Given the description of an element on the screen output the (x, y) to click on. 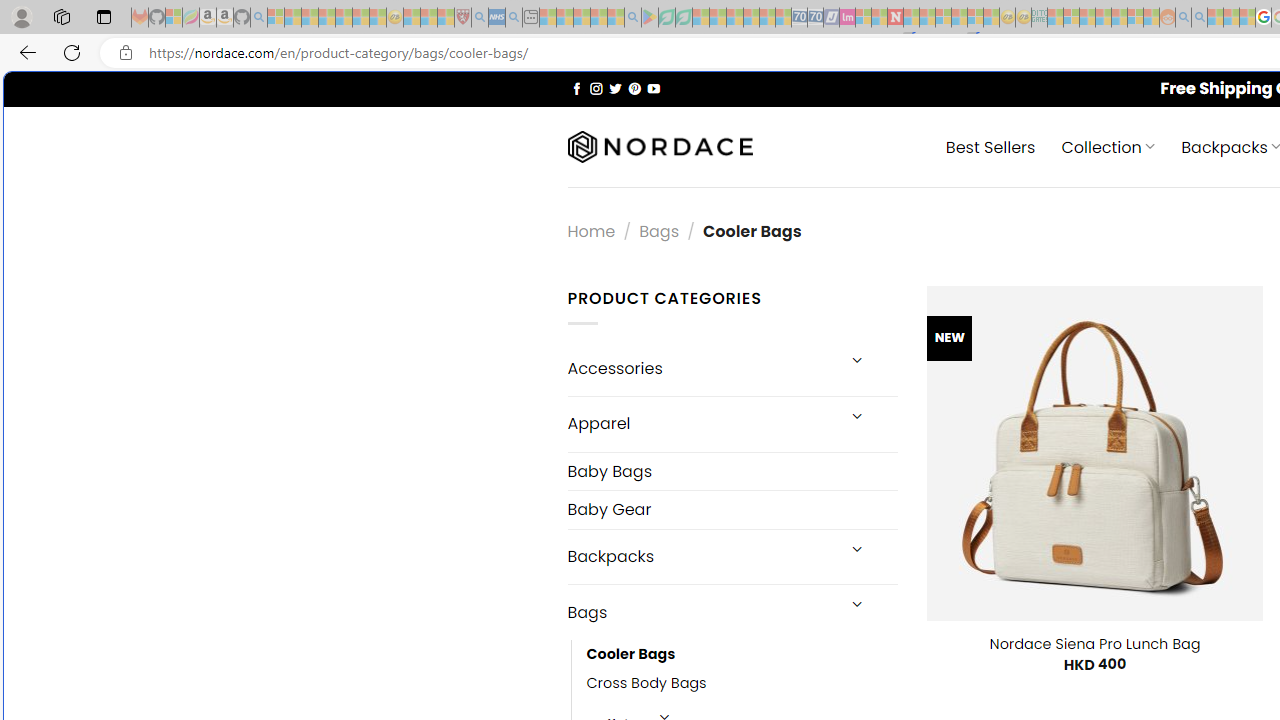
Cross Body Bags (646, 683)
Accessories (700, 368)
Cooler Bags (742, 655)
Follow on Pinterest (634, 88)
Follow on Instagram (596, 88)
Cross Body Bags (742, 683)
